Given the description of an element on the screen output the (x, y) to click on. 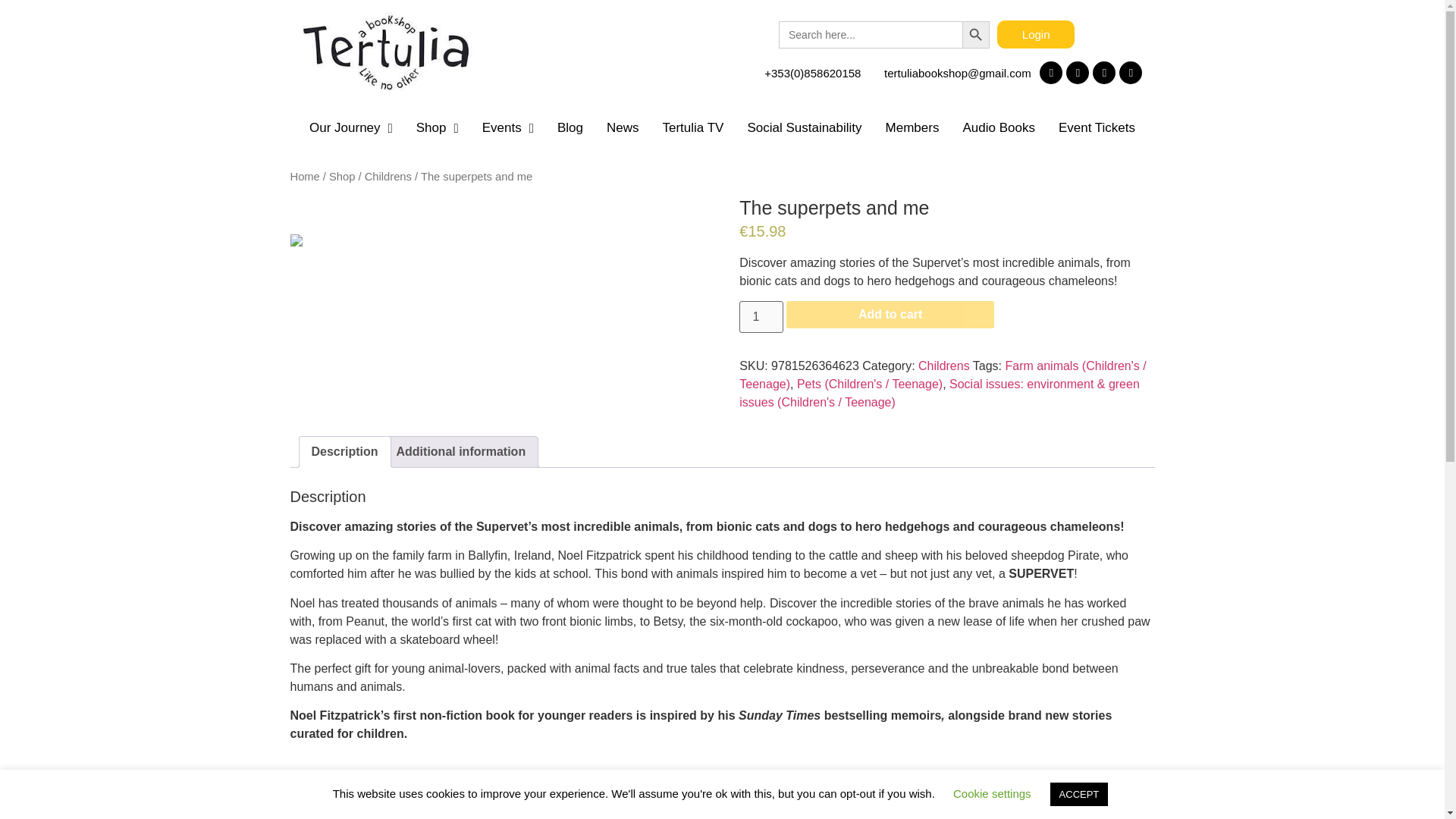
Blog (569, 127)
Login (1035, 34)
Social Sustainability (804, 127)
Members (911, 127)
Events (507, 127)
Search Button (976, 34)
Our Journey (350, 127)
Shop (437, 127)
Tertulia TV (692, 127)
1 (761, 316)
